Given the description of an element on the screen output the (x, y) to click on. 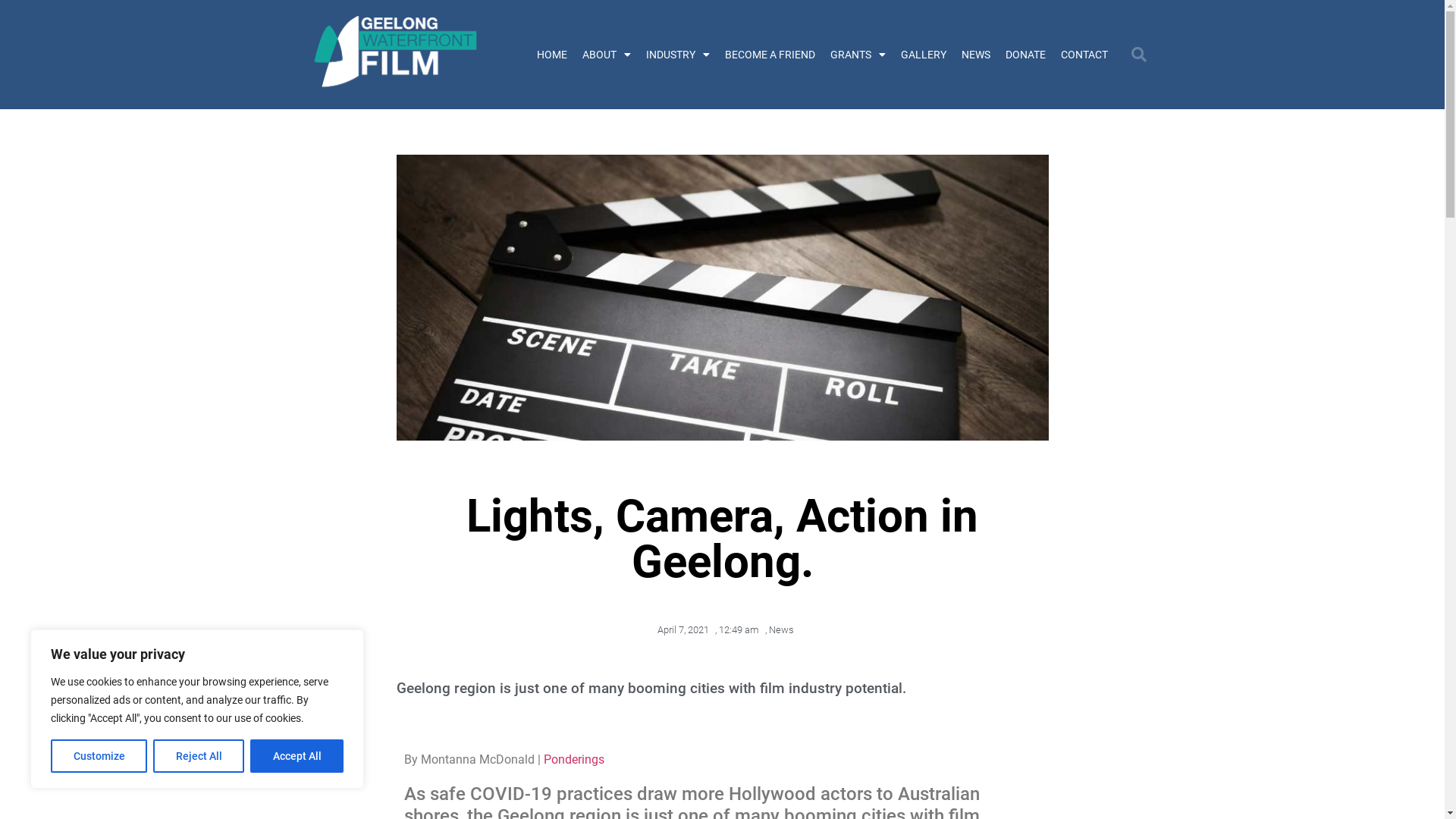
BECOME A FRIEND Element type: text (769, 54)
INDUSTRY Element type: text (677, 54)
Reject All Element type: text (198, 755)
GRANTS Element type: text (857, 54)
NEWS Element type: text (975, 54)
CONTACT Element type: text (1083, 54)
movie-clapper-board-K6Z3YND Element type: hover (721, 297)
HOME Element type: text (551, 54)
ABOUT Element type: text (606, 54)
Ponderings Element type: text (572, 759)
Accept All Element type: text (296, 755)
DONATE Element type: text (1025, 54)
April 7, 2021 Element type: text (679, 629)
News Element type: text (780, 629)
GALLERY Element type: text (923, 54)
Customize Element type: text (98, 755)
